Given the description of an element on the screen output the (x, y) to click on. 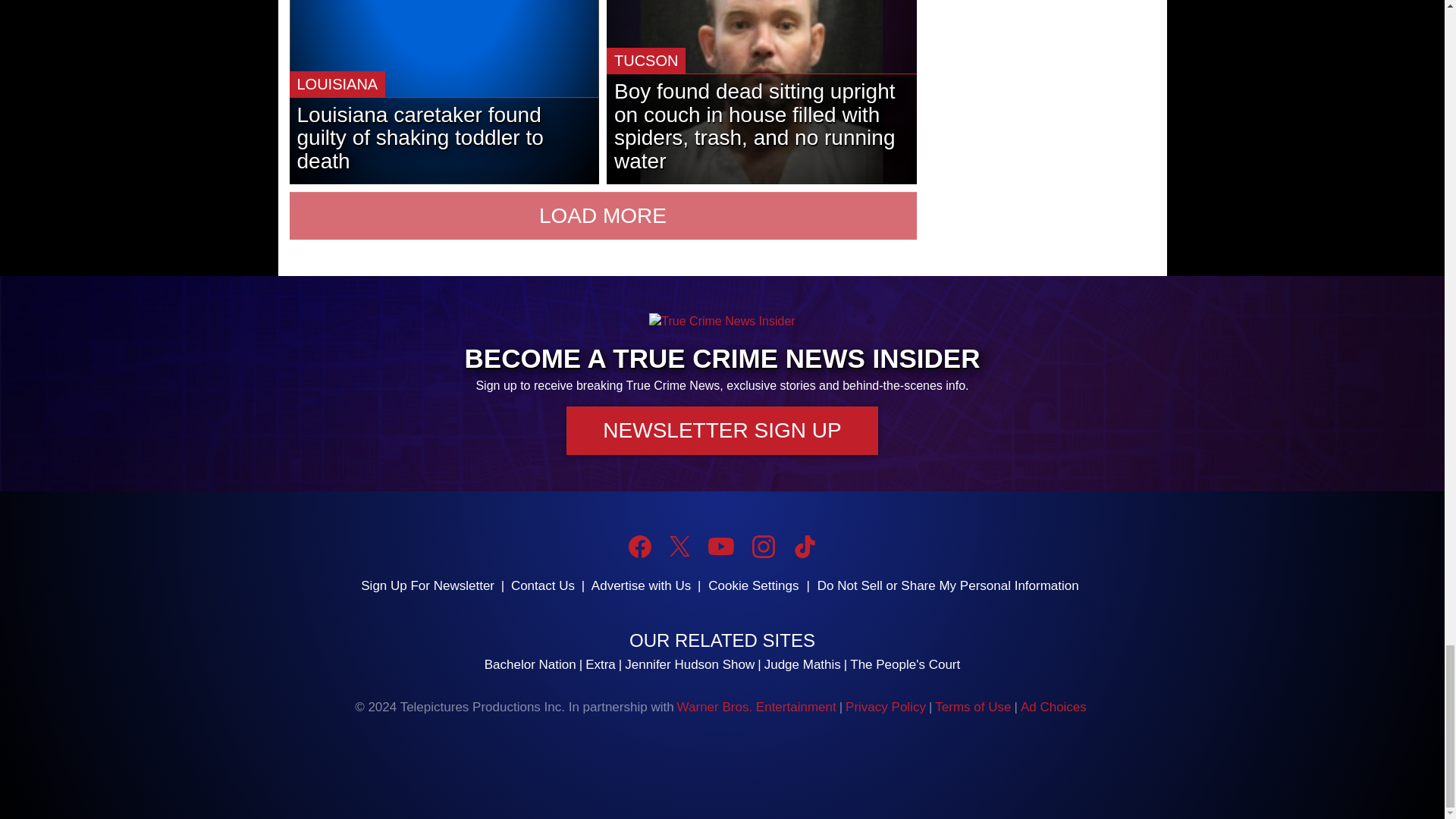
Twitter (679, 546)
YouTube (720, 546)
Instagram (763, 546)
TikTok (804, 546)
Facebook (639, 546)
